Given the description of an element on the screen output the (x, y) to click on. 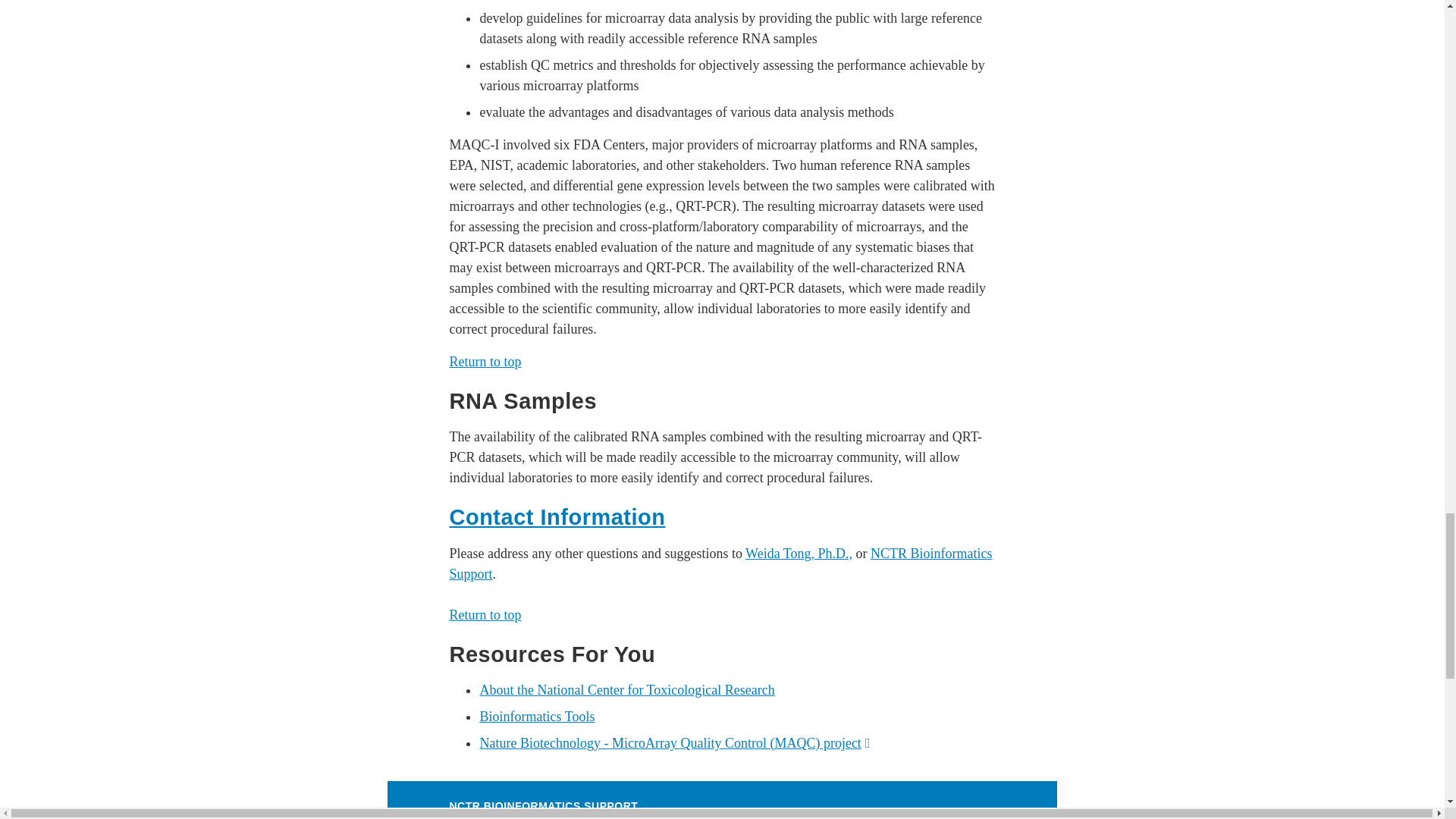
National Center for Toxicological Research (626, 689)
Bioinformatics Tools (536, 716)
